Given the description of an element on the screen output the (x, y) to click on. 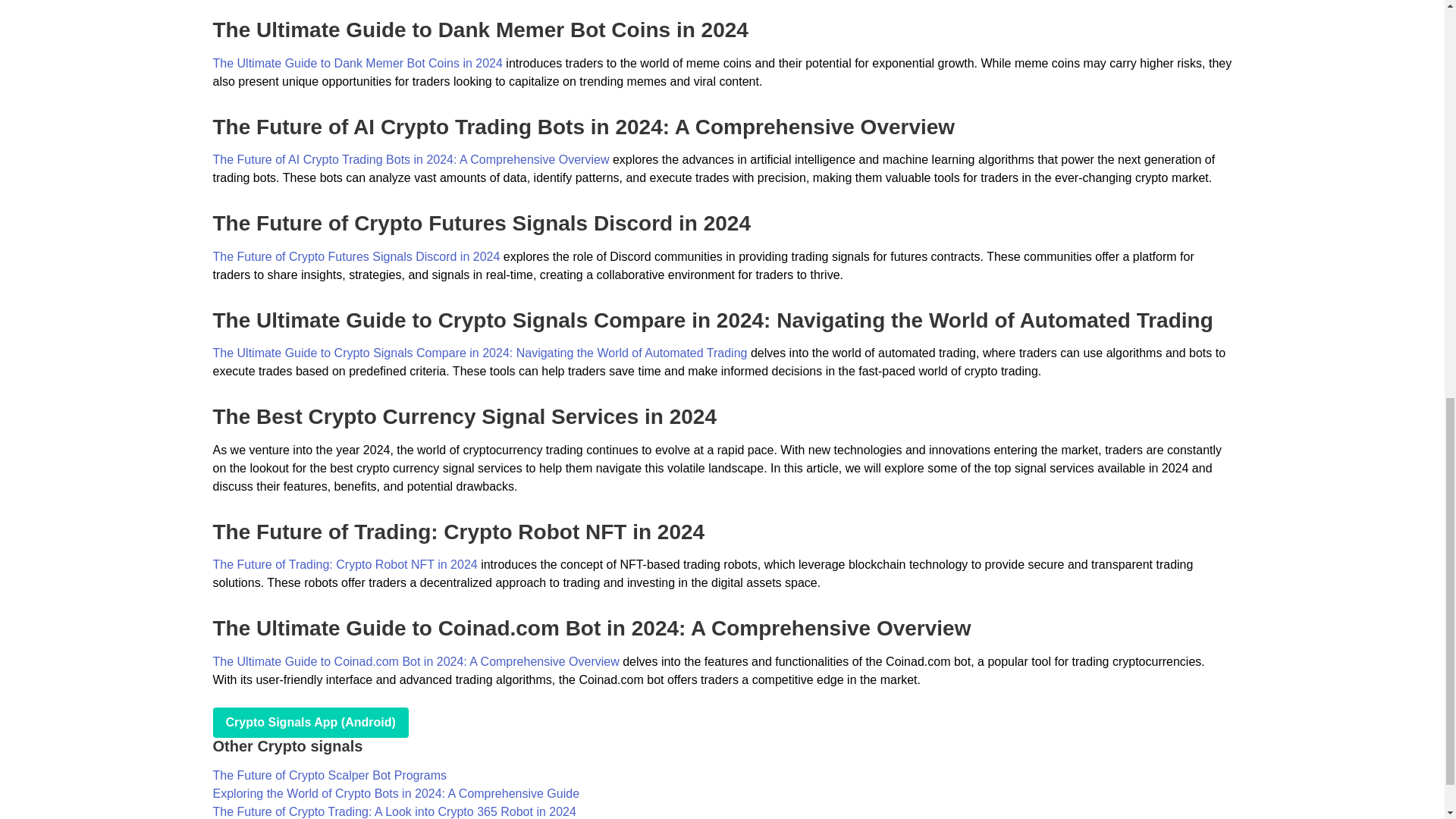
The Future of Crypto Futures Signals Discord in 2024 (355, 256)
The Future of Crypto Scalper Bot Programs (329, 775)
The Future of Trading: Crypto Robot NFT in 2024 (344, 563)
play (309, 722)
The Ultimate Guide to Dank Memer Bot Coins in 2024 (357, 62)
The Future of Crypto Scalper Bot Programs (329, 775)
